Given the description of an element on the screen output the (x, y) to click on. 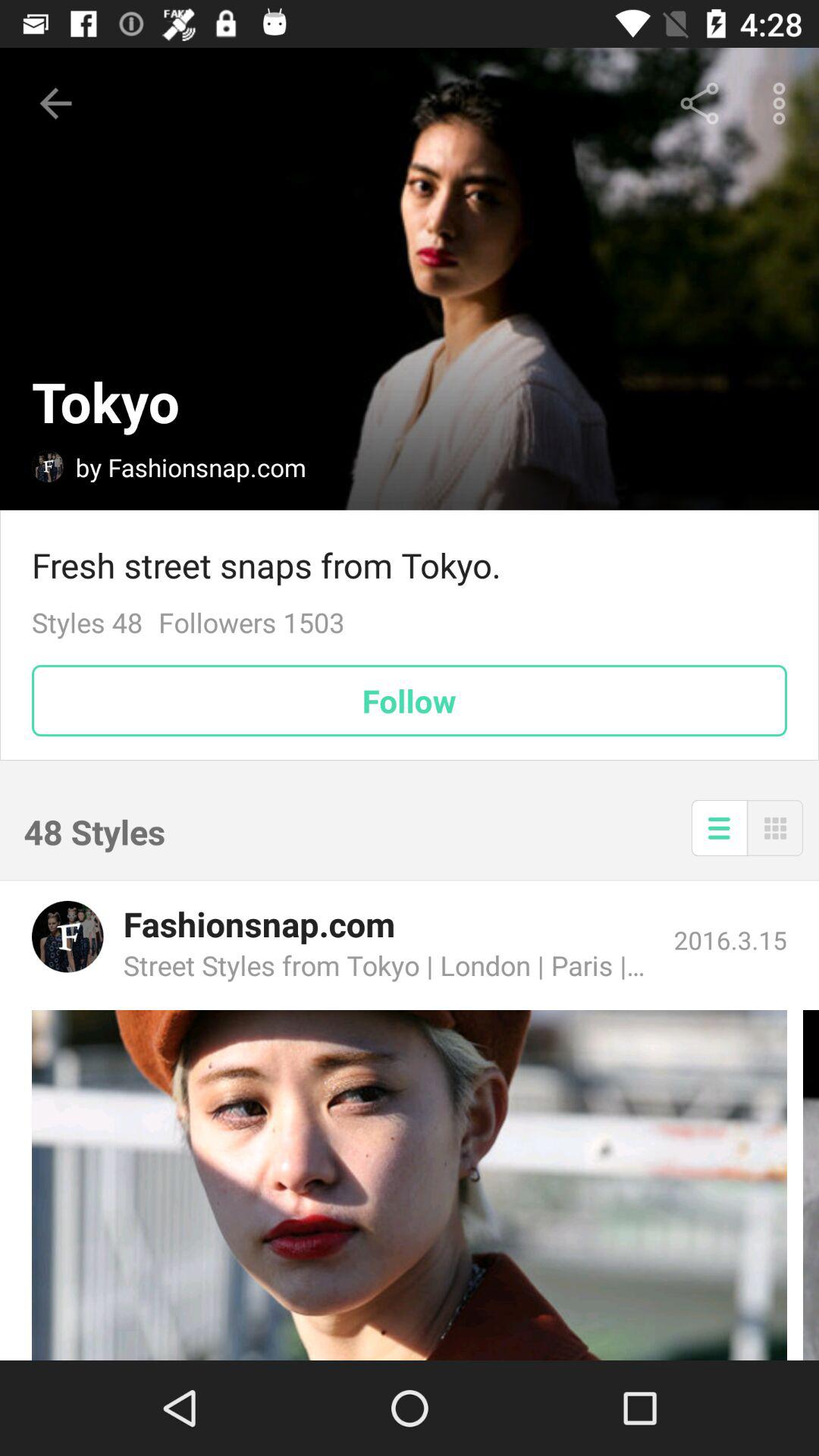
change grid (775, 827)
